Given the description of an element on the screen output the (x, y) to click on. 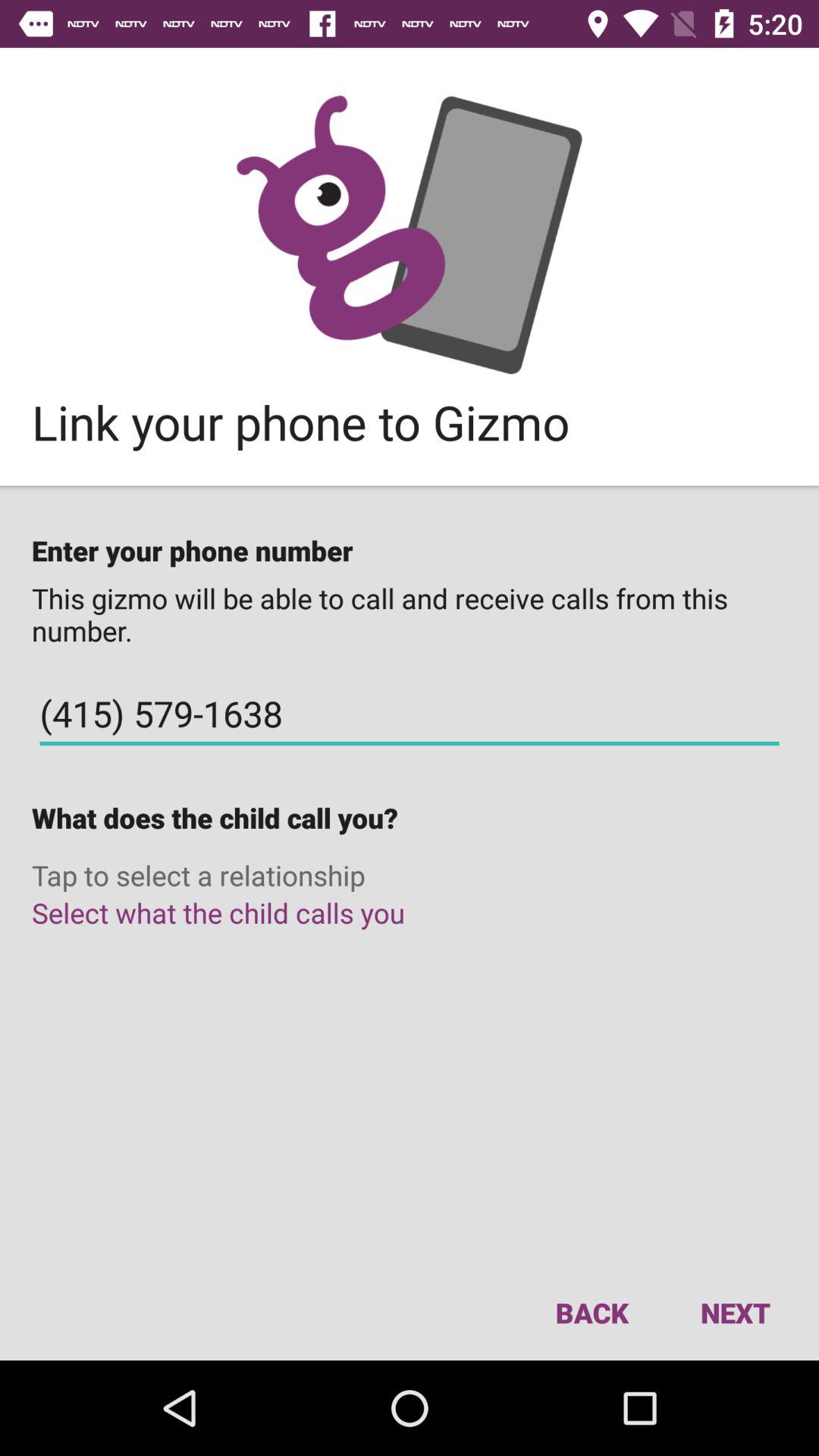
open next icon (735, 1312)
